Given the description of an element on the screen output the (x, y) to click on. 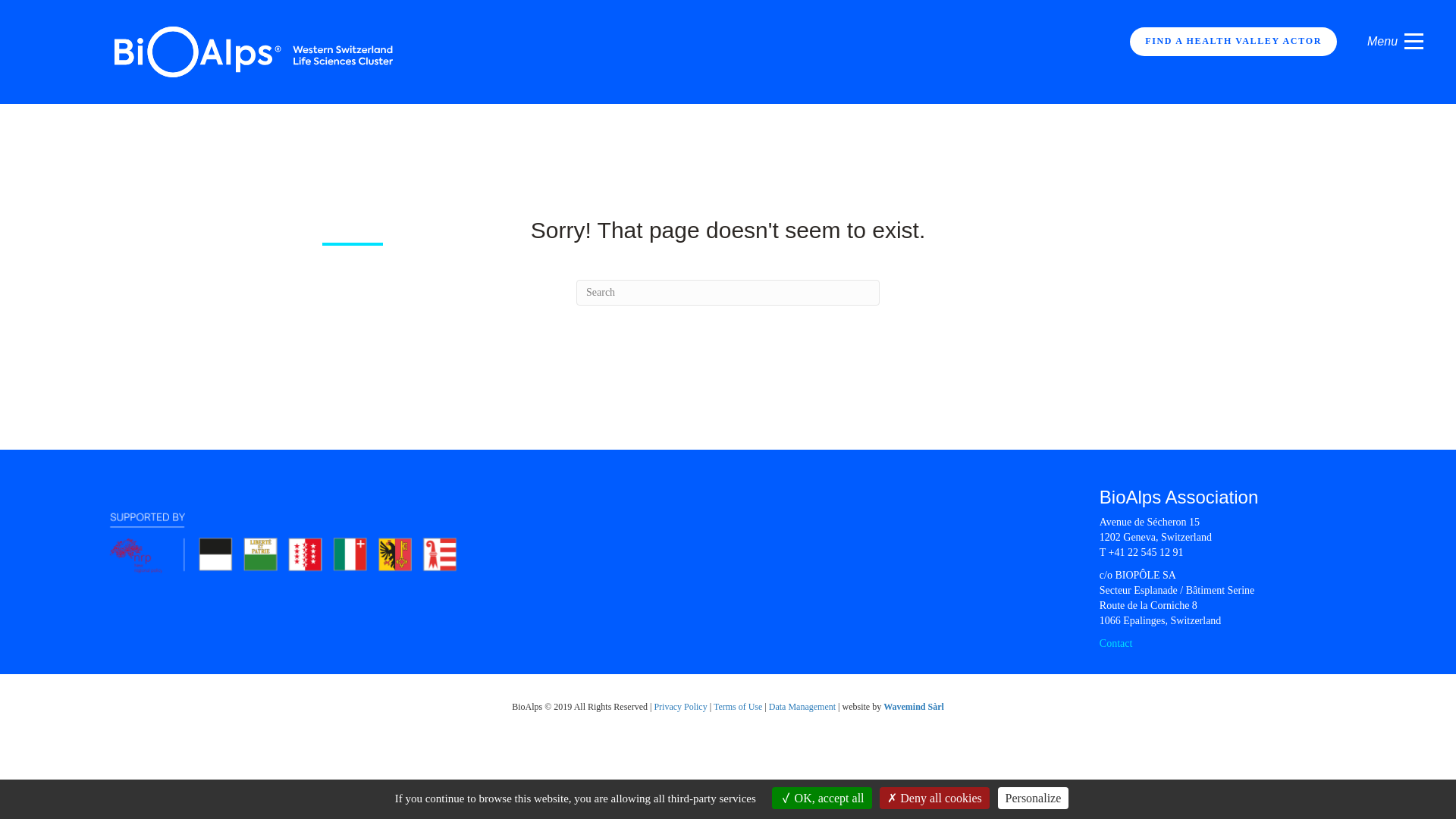
Type and press Enter to search. (727, 292)
Bio Alps (254, 50)
BioAlps Association (1178, 496)
FIND A HEALTH VALLEY ACTOR (1232, 41)
